Given the description of an element on the screen output the (x, y) to click on. 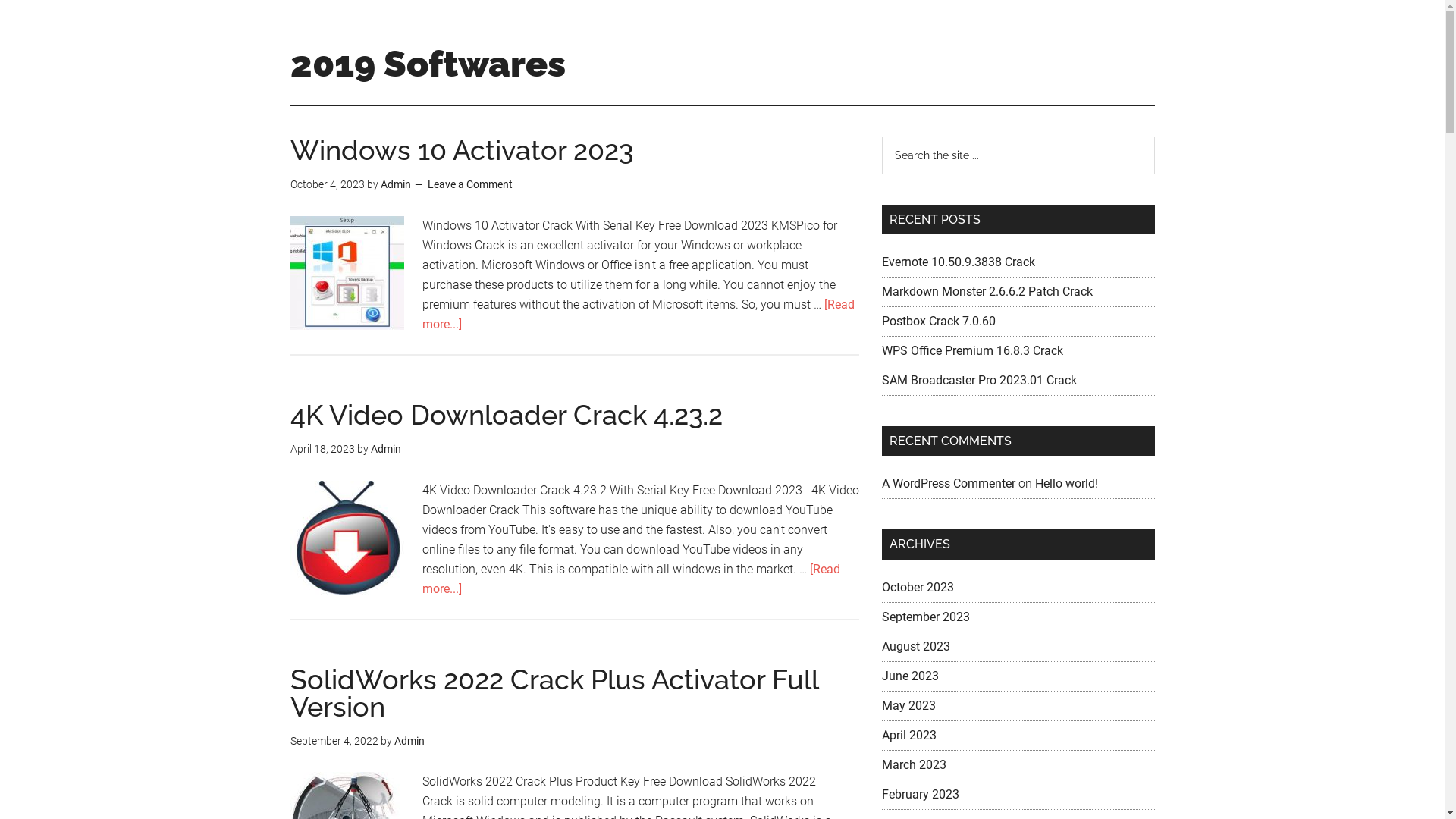
[Read more...] Element type: text (637, 314)
Postbox Crack 7.0.60 Element type: text (937, 320)
May 2023 Element type: text (908, 705)
[Read more...] Element type: text (630, 578)
February 2023 Element type: text (919, 794)
June 2023 Element type: text (909, 675)
April 2023 Element type: text (908, 735)
Admin Element type: text (385, 448)
A WordPress Commenter Element type: text (947, 483)
Search Element type: text (1154, 135)
Hello world! Element type: text (1065, 483)
October 2023 Element type: text (917, 587)
WPS Office Premium 16.8.3 Crack Element type: text (971, 350)
2019 Softwares Element type: text (426, 63)
August 2023 Element type: text (915, 646)
Admin Element type: text (395, 184)
4K Video Downloader Crack 4.23.2 Element type: text (505, 414)
Windows 10 Activator 2023 Element type: text (460, 150)
SAM Broadcaster Pro 2023.01 Crack Element type: text (978, 380)
March 2023 Element type: text (913, 764)
Admin Element type: text (409, 740)
September 2023 Element type: text (925, 616)
SolidWorks 2022 Crack Plus Activator Full Version Element type: text (553, 691)
Evernote 10.50.9.3838 Crack Element type: text (957, 261)
Markdown Monster 2.6.6.2 Patch Crack Element type: text (986, 291)
Leave a Comment Element type: text (469, 184)
